Given the description of an element on the screen output the (x, y) to click on. 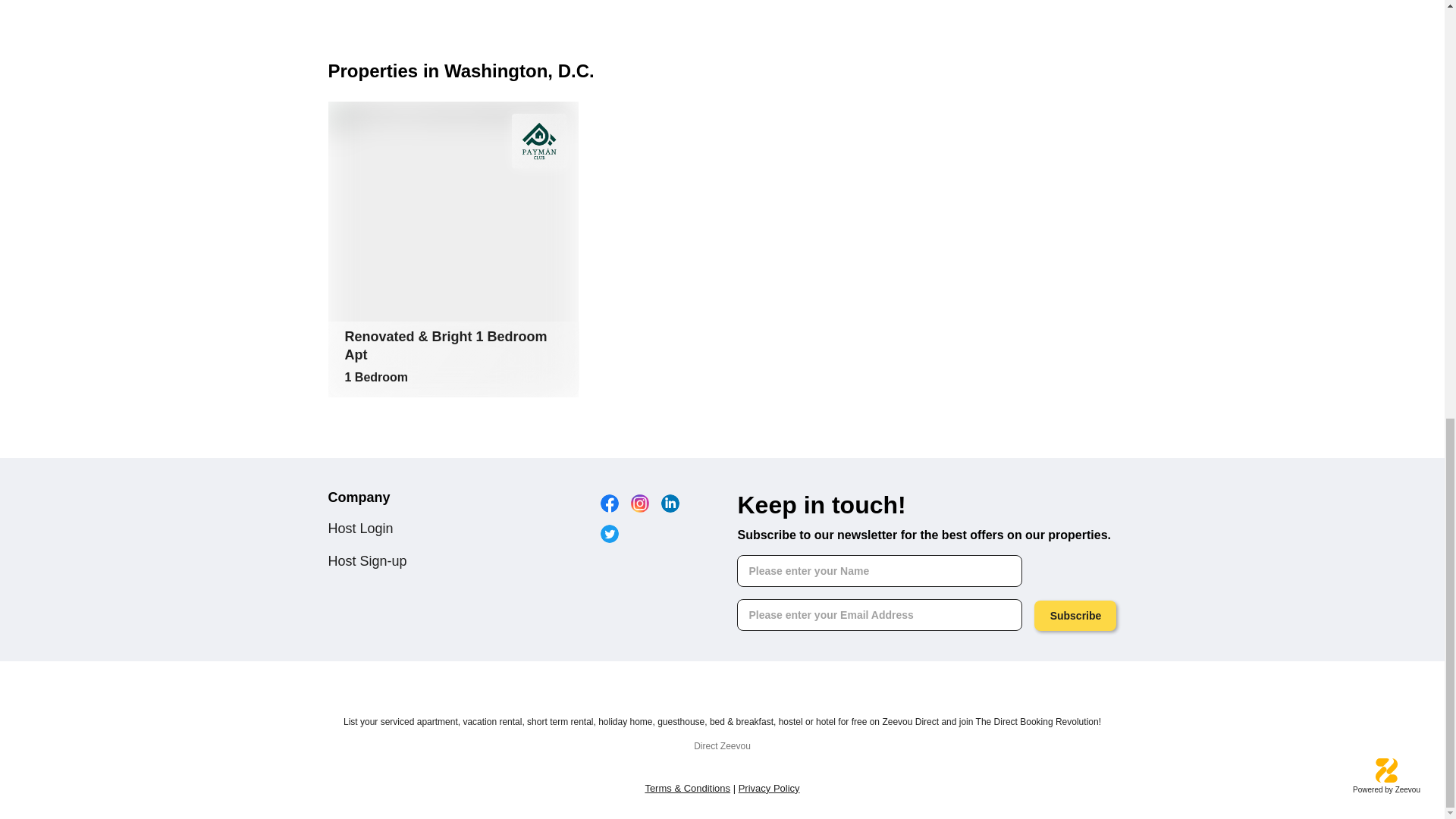
Host Sign-up (366, 561)
Privacy Policy (768, 787)
Subscribe (1074, 615)
Host Login (360, 528)
Powered by Zeevou (1386, 776)
